Given the description of an element on the screen output the (x, y) to click on. 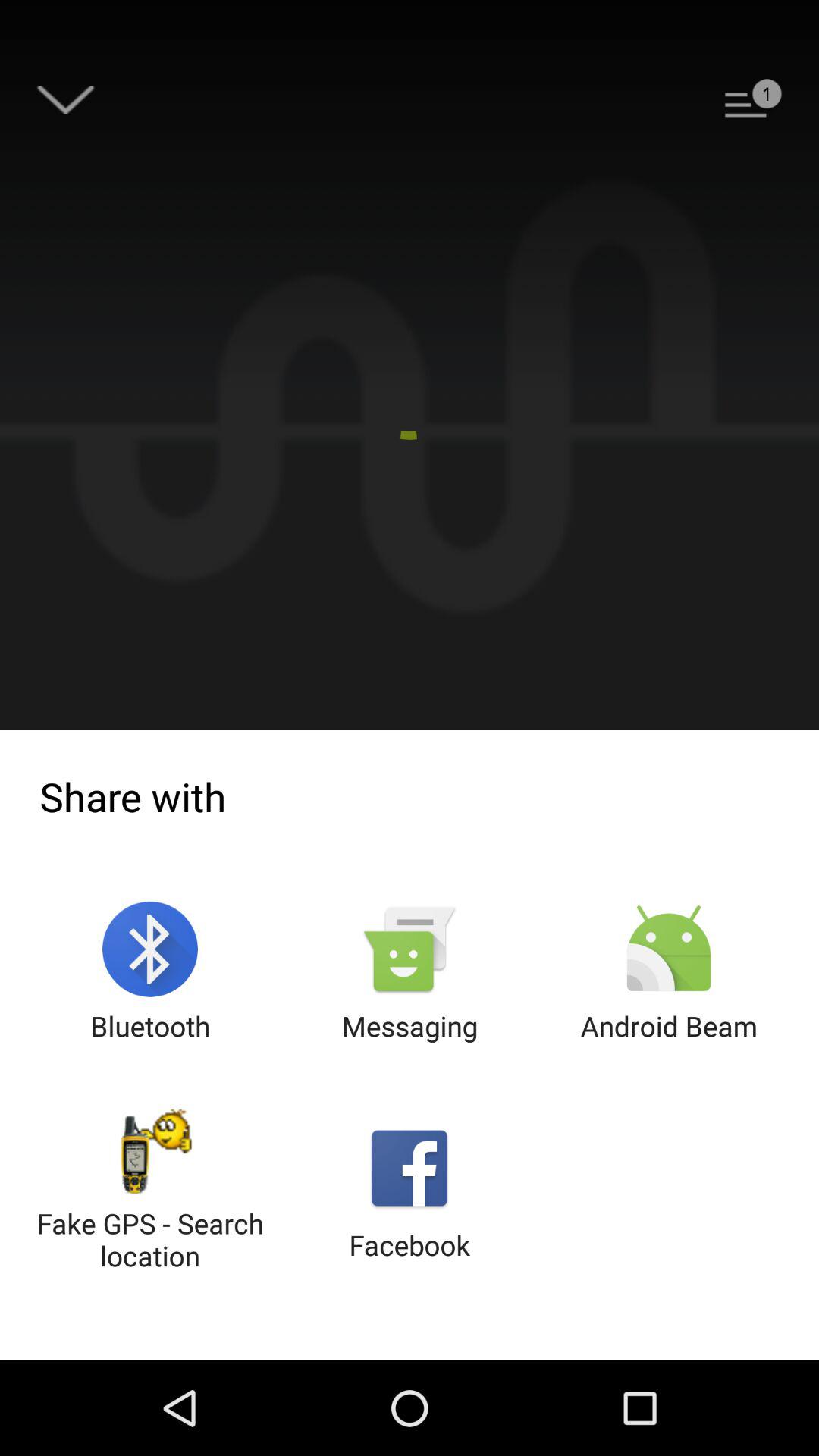
select the icon next to messaging (150, 972)
